Given the description of an element on the screen output the (x, y) to click on. 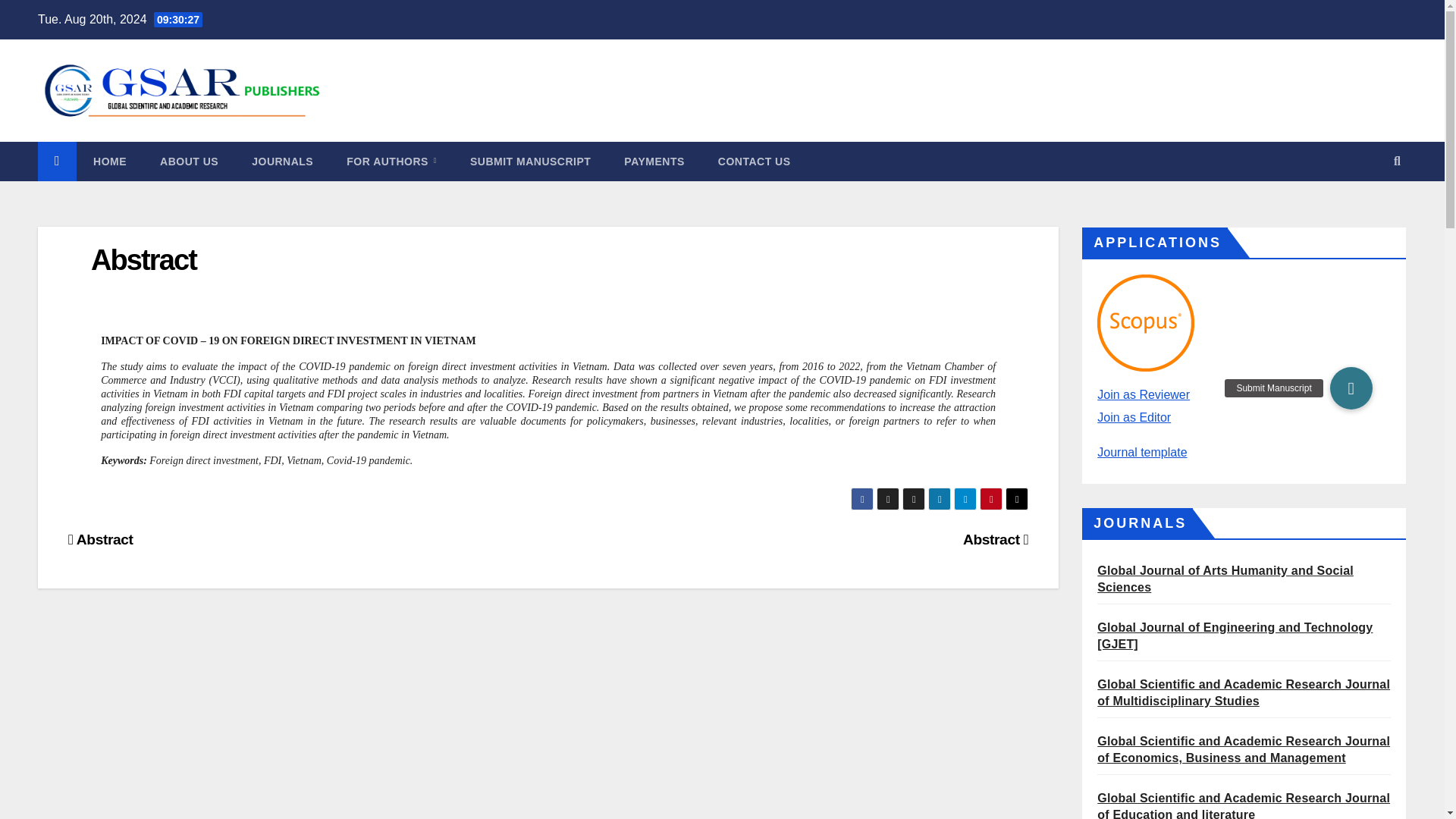
Abstract (143, 260)
SUBMIT MANUSCRIPT (529, 160)
Global Journal of Arts Humanity and Social Sciences (1225, 578)
Abstract (994, 539)
PAYMENTS (653, 160)
JOURNALS (282, 160)
ABOUT US (188, 160)
CONTACT US (754, 160)
Journal template (1141, 451)
